Given the description of an element on the screen output the (x, y) to click on. 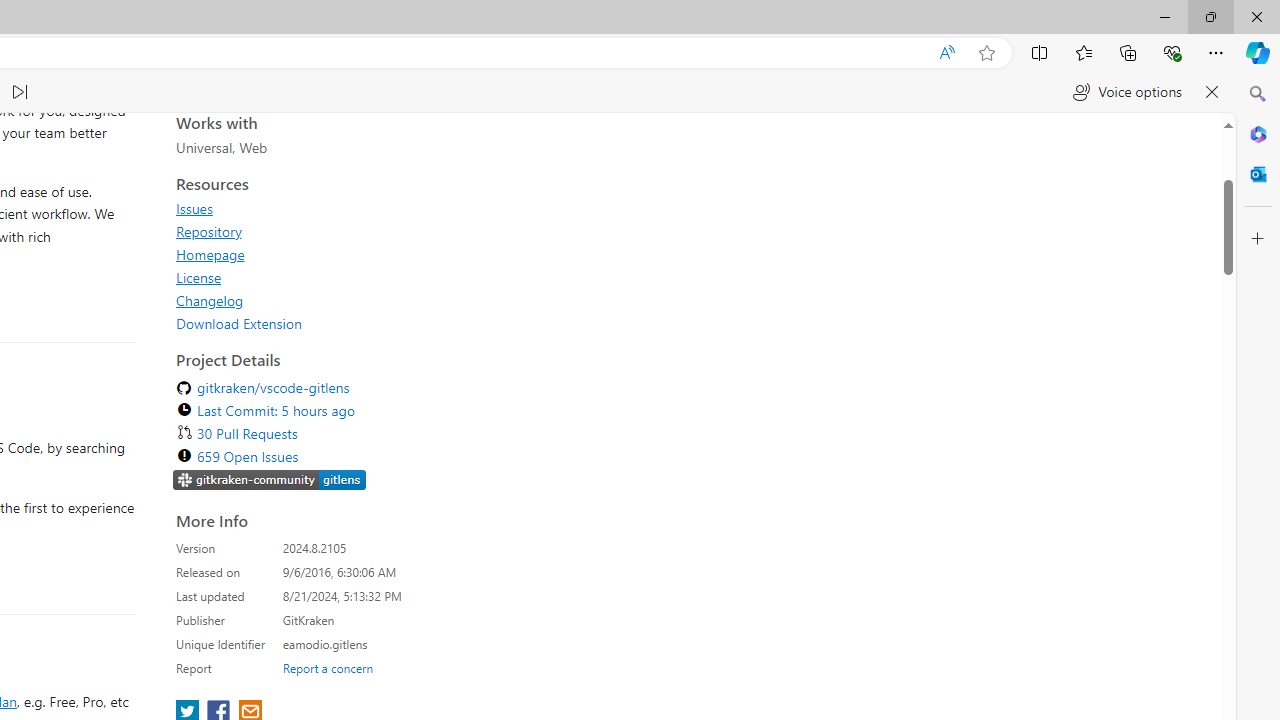
License (198, 605)
